Given the description of an element on the screen output the (x, y) to click on. 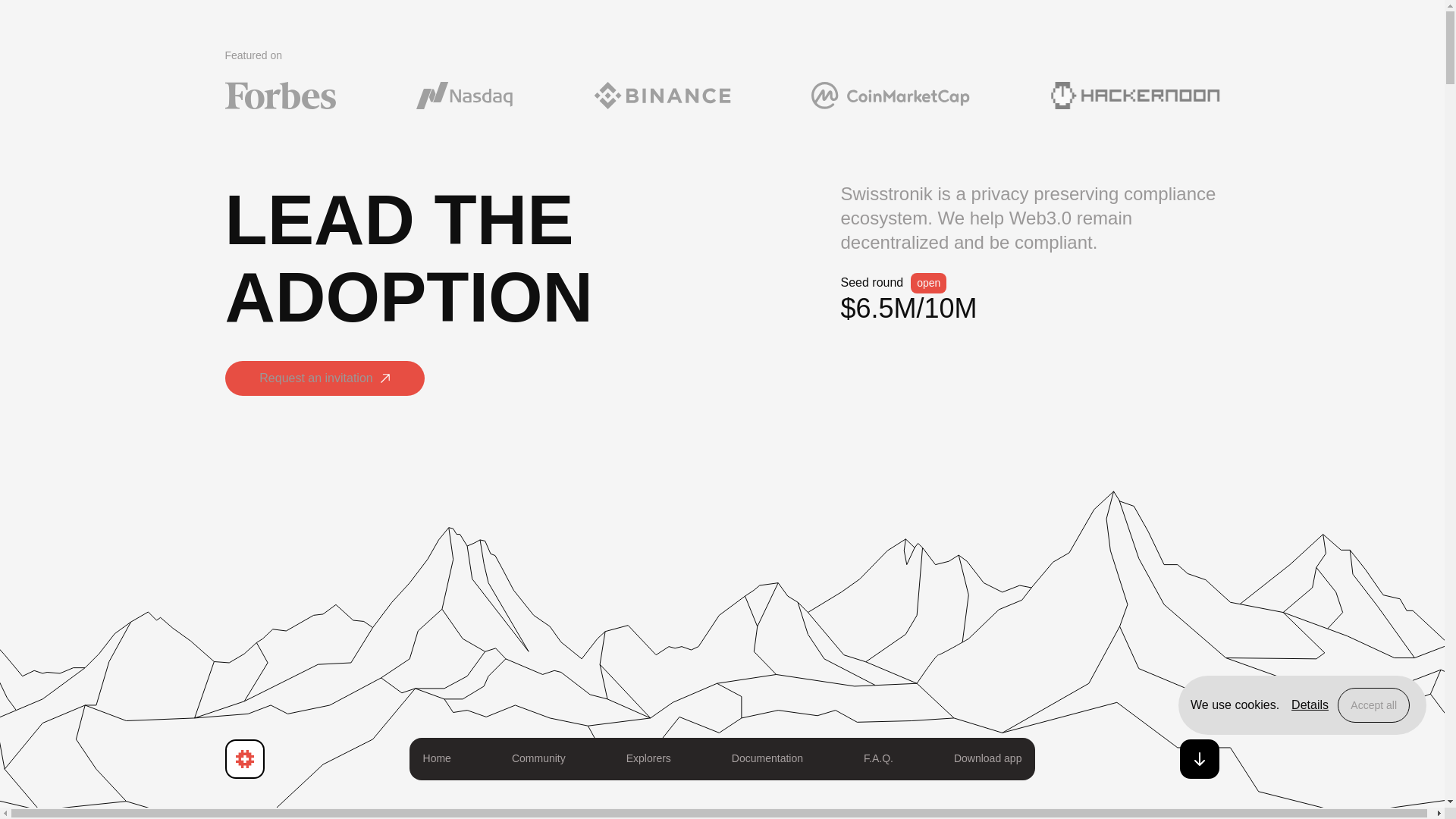
Request an invitation (323, 393)
